Given the description of an element on the screen output the (x, y) to click on. 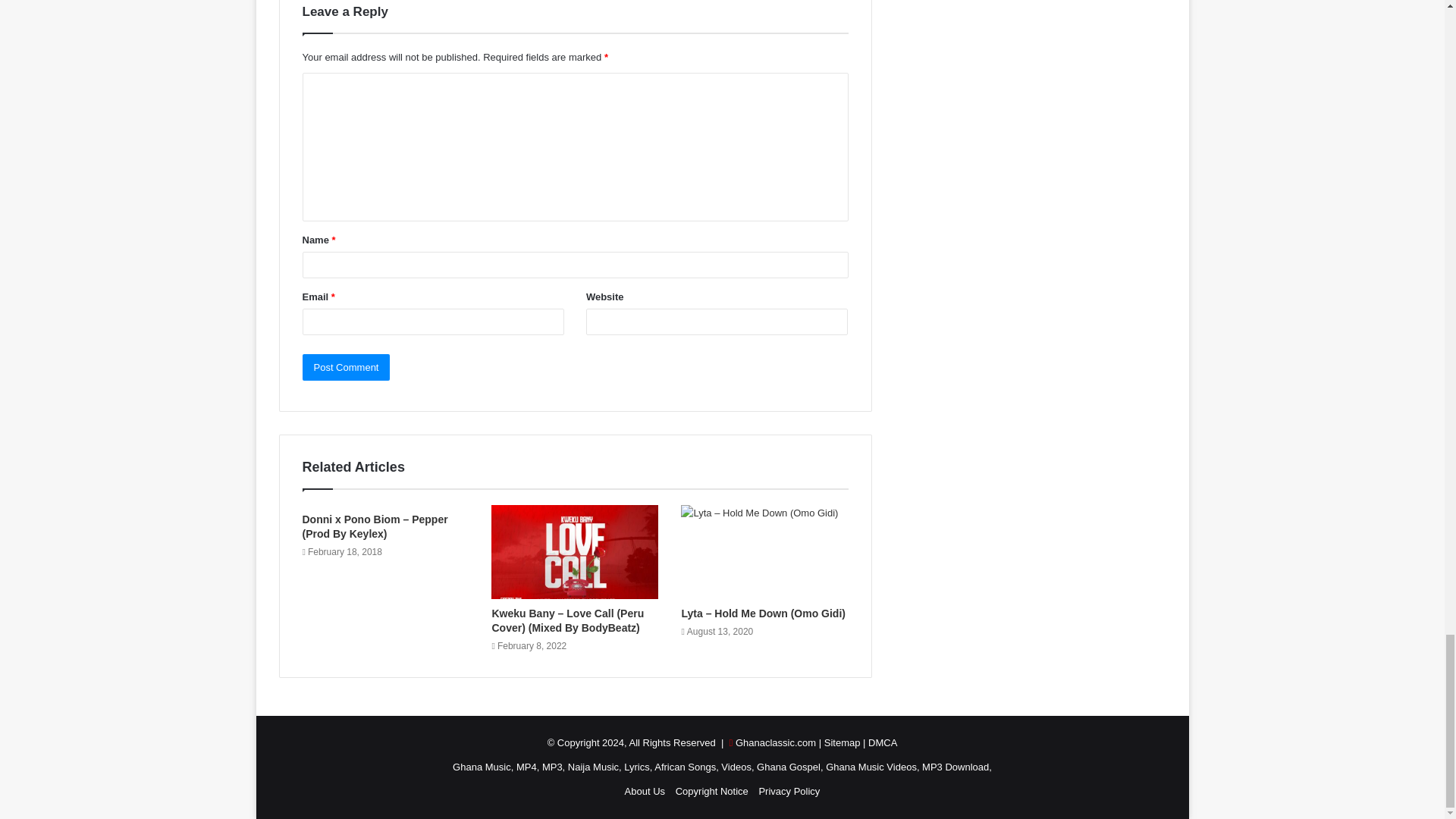
Post Comment (345, 366)
